Given the description of an element on the screen output the (x, y) to click on. 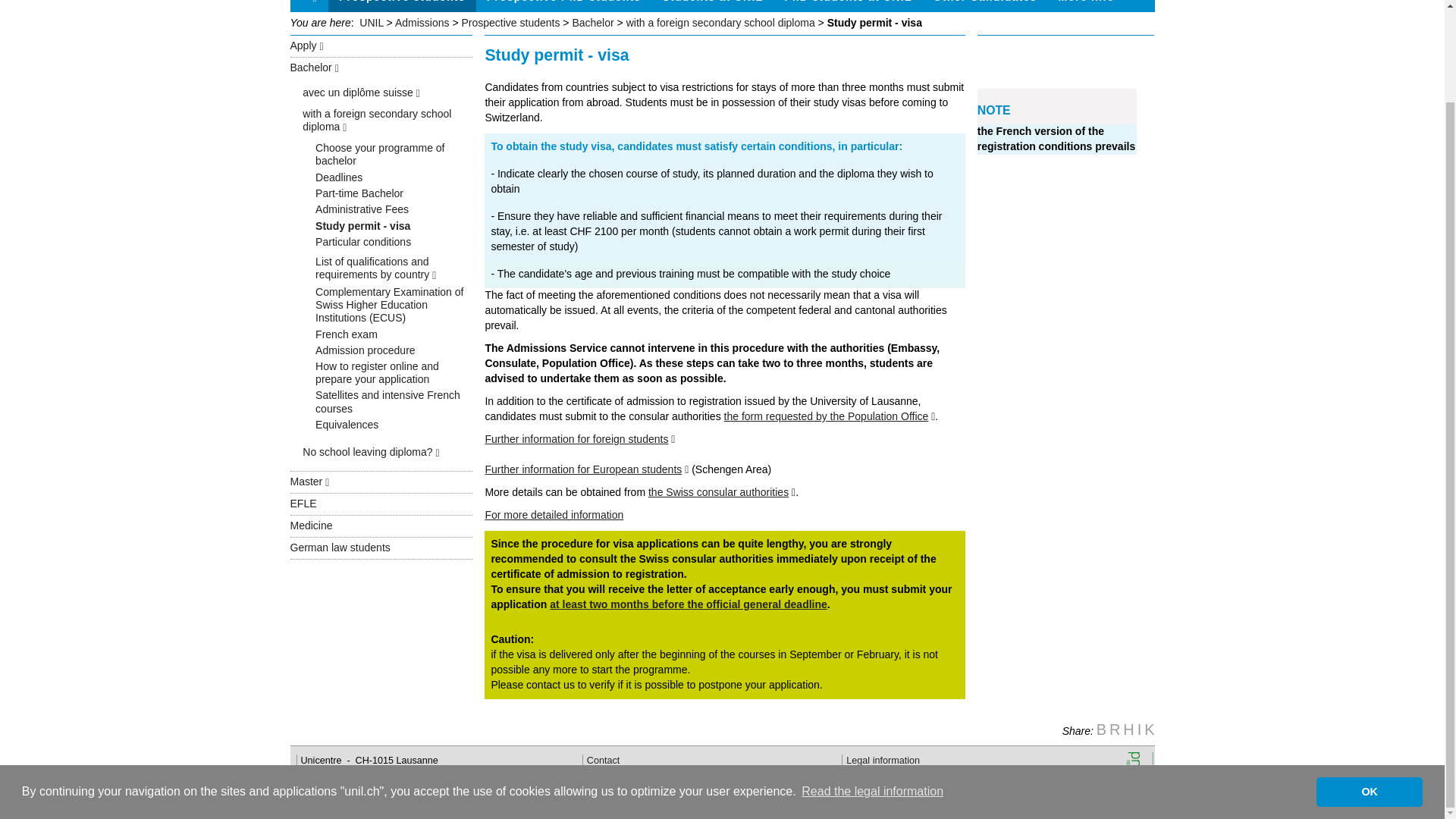
Students at UNIL (711, 6)
Read the legal information (871, 685)
Prospective PhD students (564, 6)
PhD students at UNIL (847, 6)
Prospective students (402, 6)
OK (1369, 685)
